Given the description of an element on the screen output the (x, y) to click on. 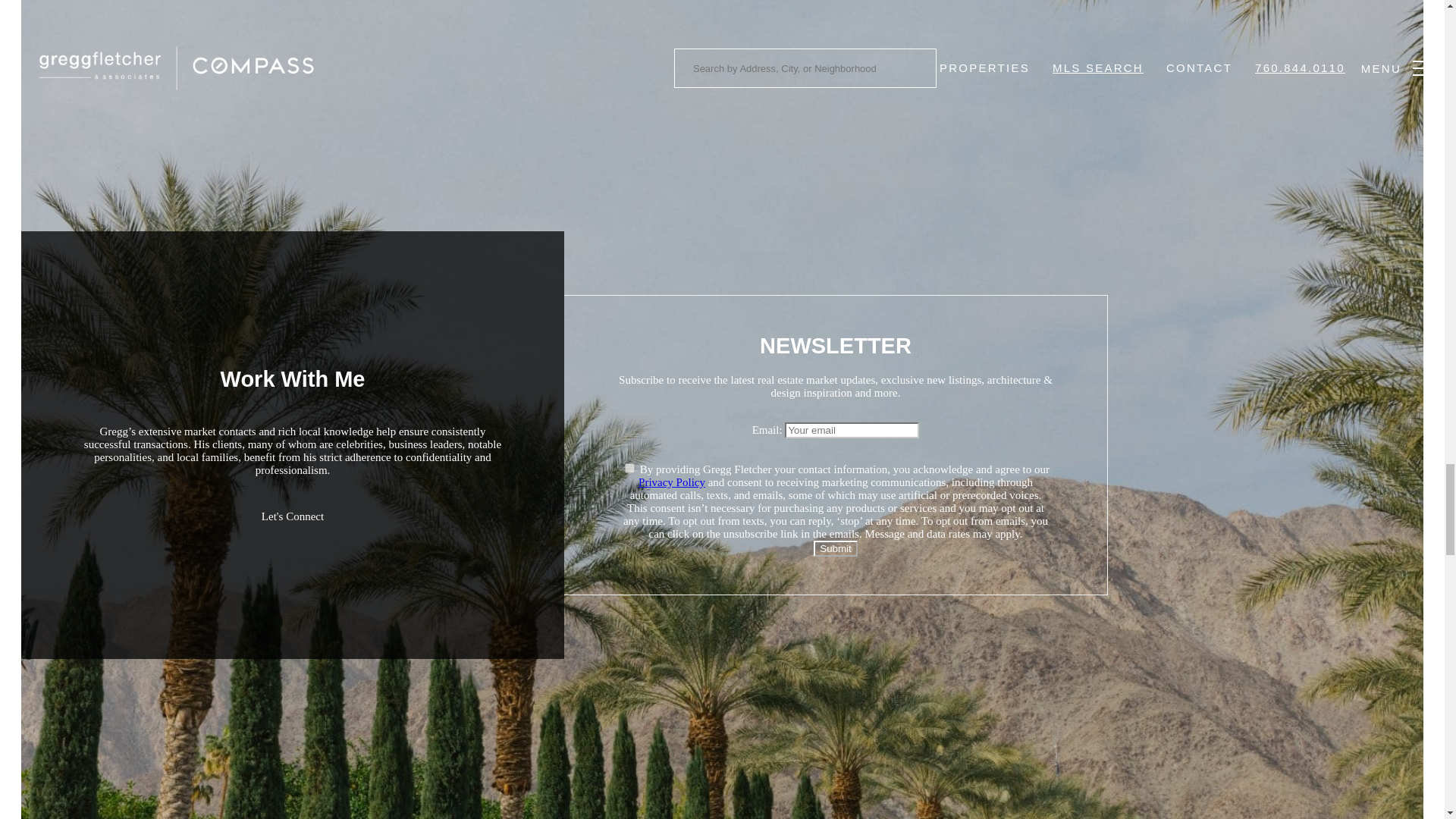
on (629, 468)
